Given the description of an element on the screen output the (x, y) to click on. 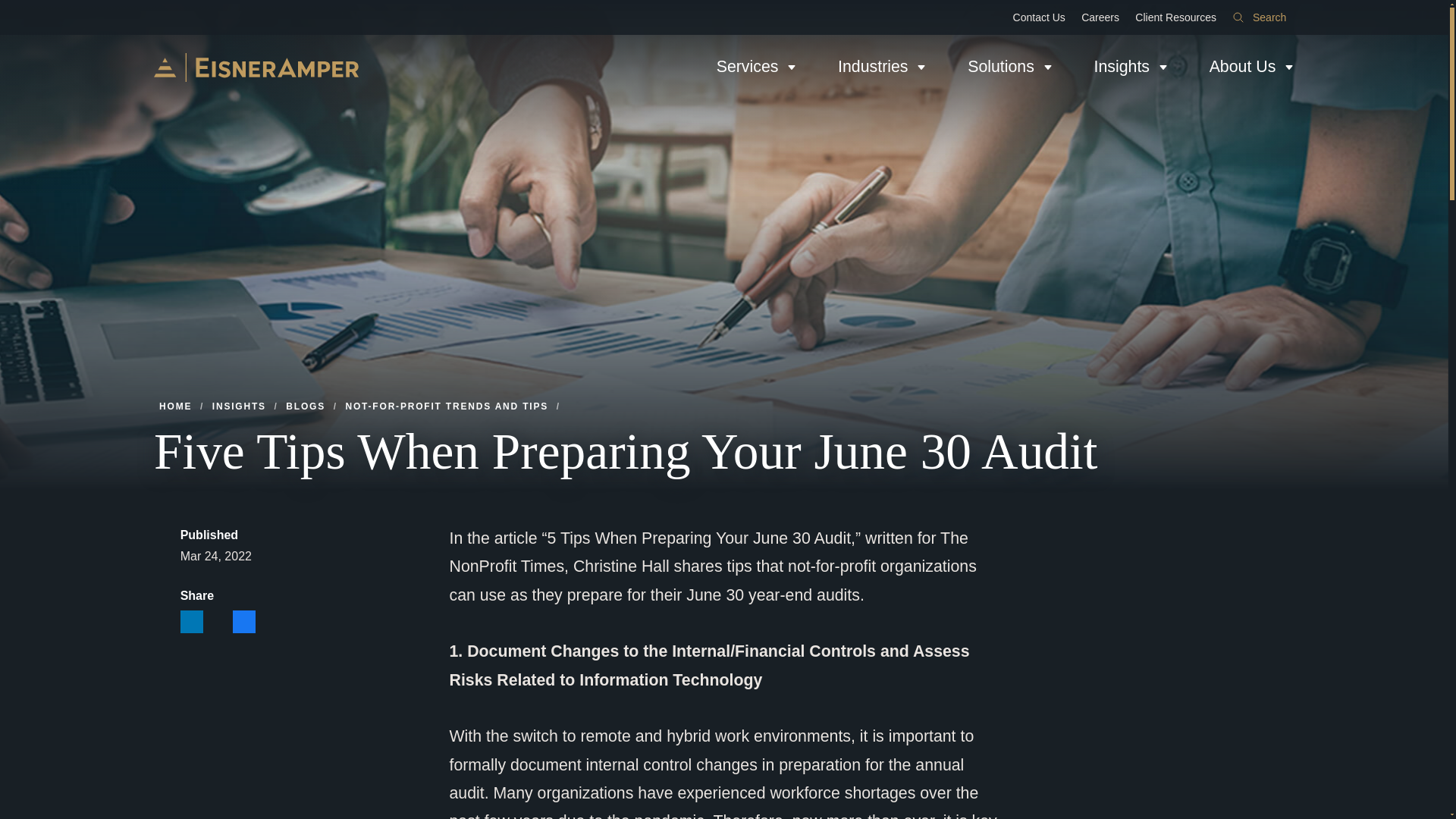
Careers (1100, 17)
Search (1259, 17)
Client Resources (1175, 17)
Contact Us (1039, 17)
Skip to content (12, 6)
EisnerAmper Home (256, 67)
